Given the description of an element on the screen output the (x, y) to click on. 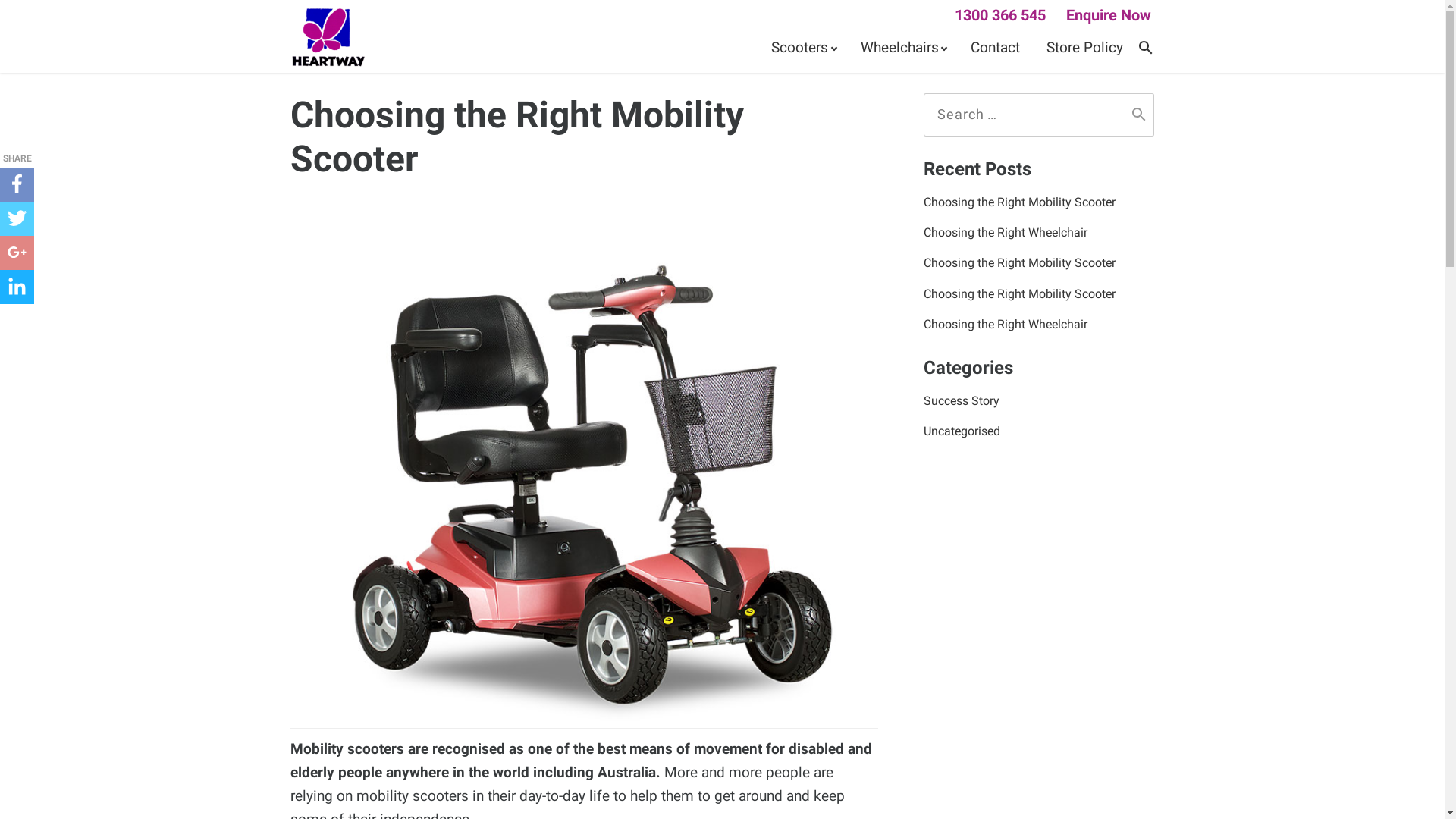
Enquire Now Element type: text (1108, 15)
Choosing the Right Wheelchair Element type: text (1038, 232)
Contact Element type: text (994, 47)
Choosing the Right Mobility Scooter Element type: text (1038, 262)
Share on Linkedin Element type: hover (17, 286)
Choosing the Right Mobility Scooter Element type: text (1038, 293)
Choosing the Right Wheelchair Element type: text (1038, 324)
Share on Google+ Element type: hover (17, 252)
1300 366 545 Element type: text (999, 15)
Uncategorised Element type: text (1038, 431)
Share on Facebook Element type: hover (17, 184)
Scooters Element type: text (802, 47)
Search Element type: text (1138, 114)
Store Policy Element type: text (1083, 47)
Choosing the Right Mobility Scooter Element type: text (1038, 201)
Success Story Element type: text (1038, 400)
Share on Twitter Element type: hover (17, 218)
Search Element type: text (1144, 47)
Wheelchairs Element type: text (902, 47)
